Given the description of an element on the screen output the (x, y) to click on. 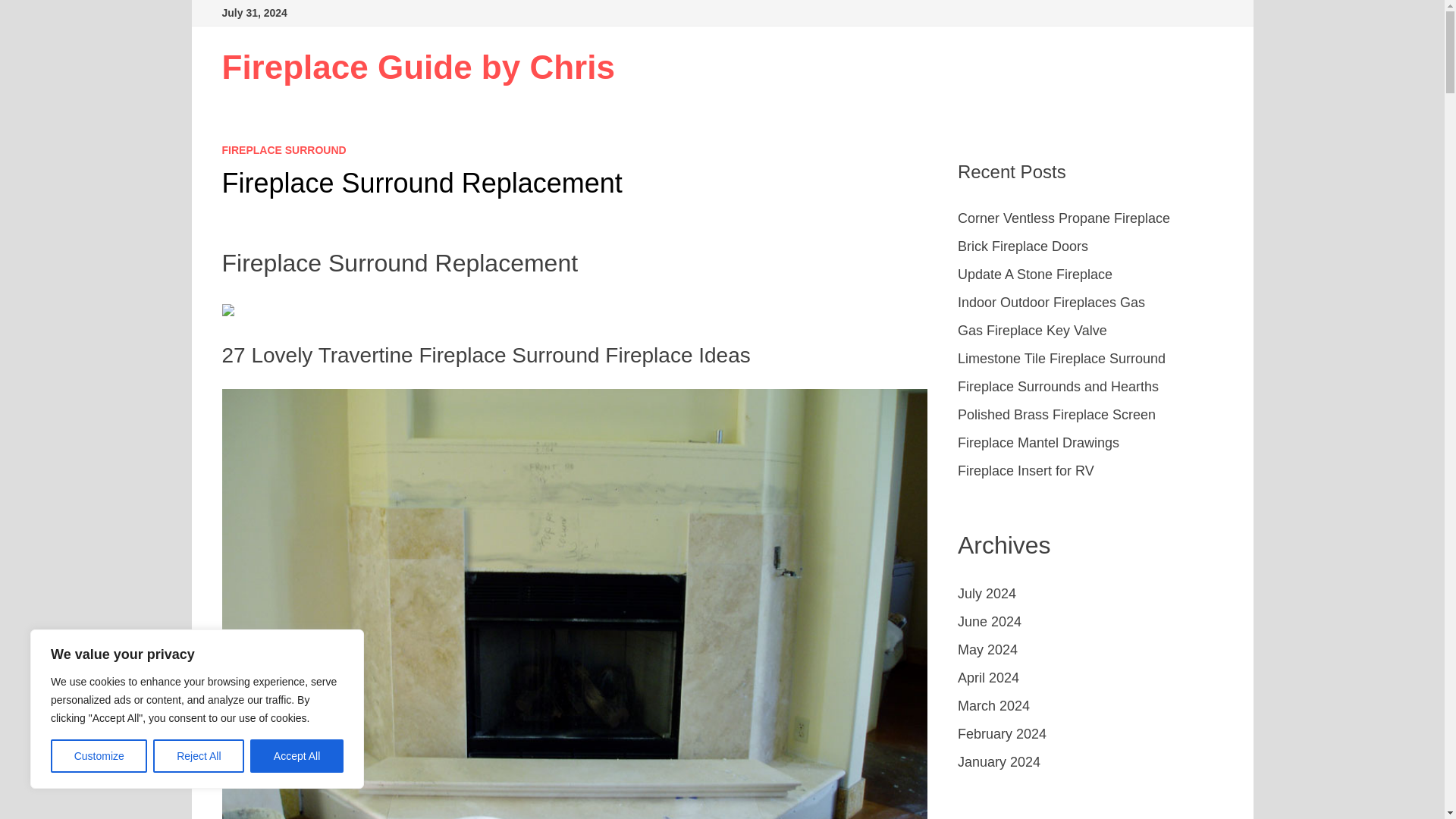
Fireplace Guide by Chris (417, 66)
Customize (98, 756)
FIREPLACE SURROUND (283, 150)
Accept All (296, 756)
Reject All (198, 756)
